Given the description of an element on the screen output the (x, y) to click on. 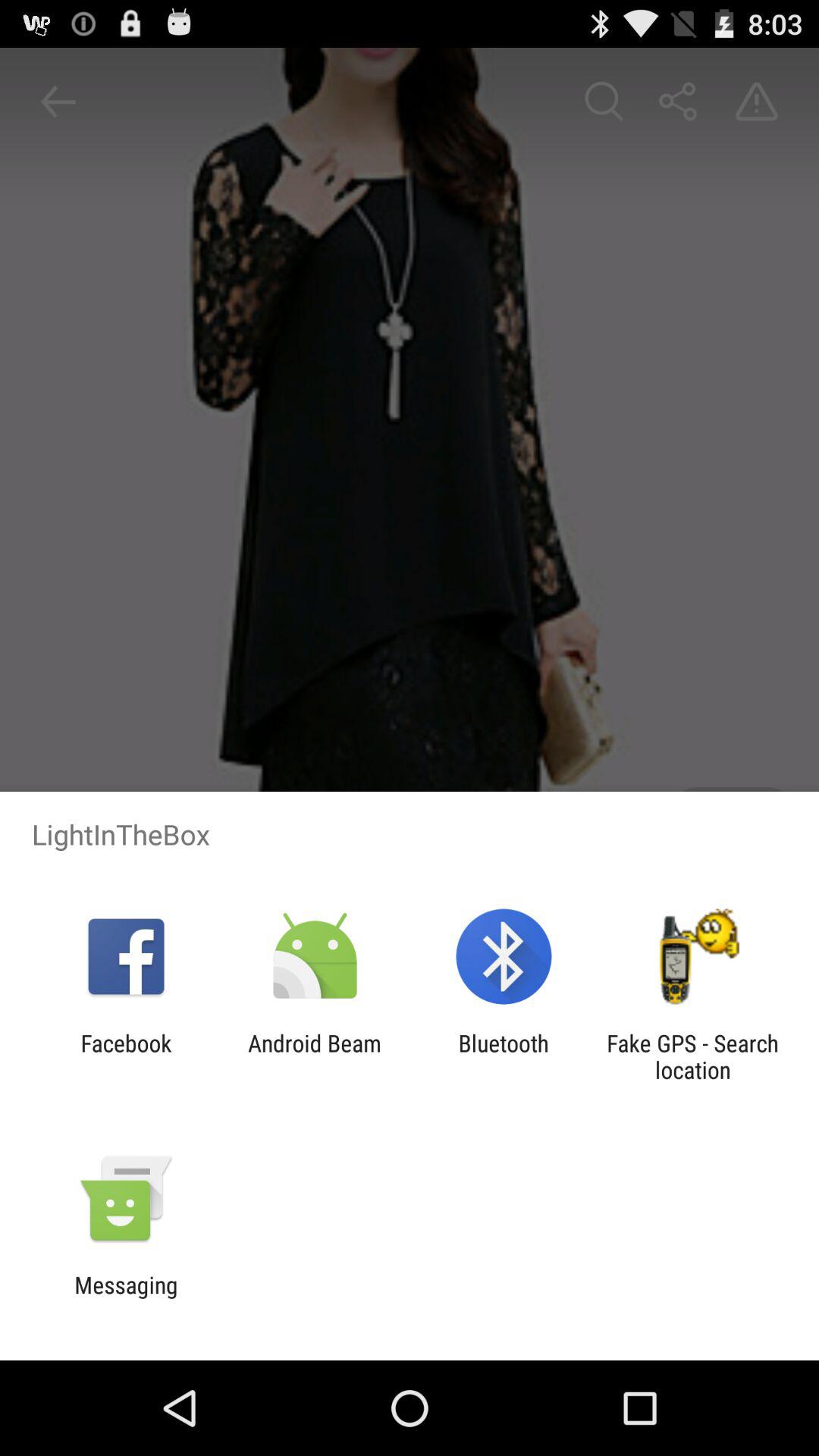
launch the facebook item (125, 1056)
